Given the description of an element on the screen output the (x, y) to click on. 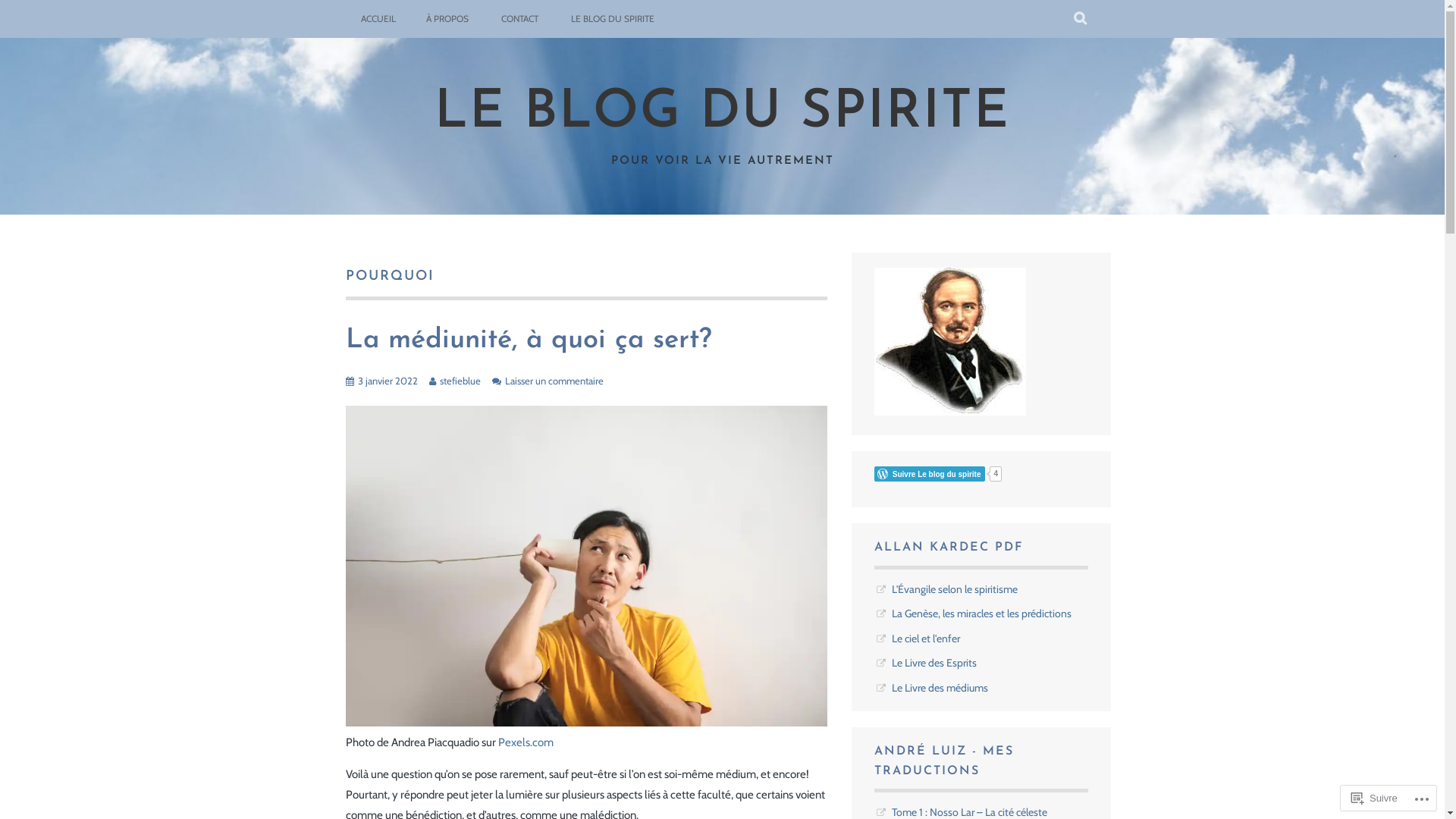
stefieblue Element type: text (459, 380)
Le ciel et l'enfer Element type: text (925, 638)
3 janvier 2022 Element type: text (387, 380)
Le Livre des Esprits Element type: text (933, 662)
CONTACT Element type: text (518, 18)
Pexels.com Element type: text (524, 742)
LE BLOG DU SPIRITE Element type: text (611, 18)
ACCUEIL Element type: text (378, 18)
Laisser un commentaire Element type: text (554, 380)
LE BLOG DU SPIRITE Element type: text (722, 113)
Suivre Element type: text (1374, 797)
